Given the description of an element on the screen output the (x, y) to click on. 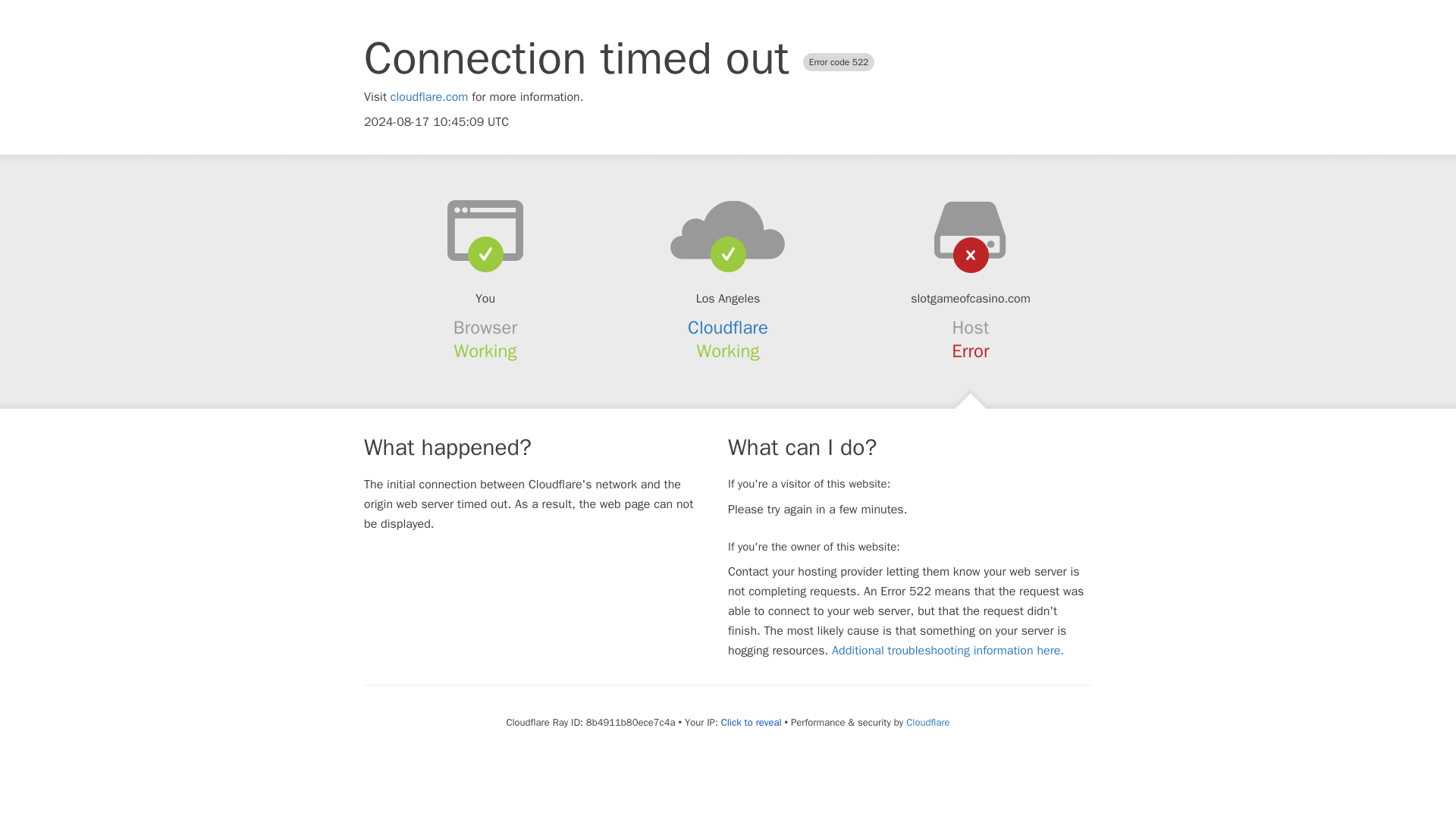
Click to reveal (750, 722)
Cloudflare (727, 327)
Cloudflare (927, 721)
Additional troubleshooting information here. (947, 650)
cloudflare.com (429, 96)
